Given the description of an element on the screen output the (x, y) to click on. 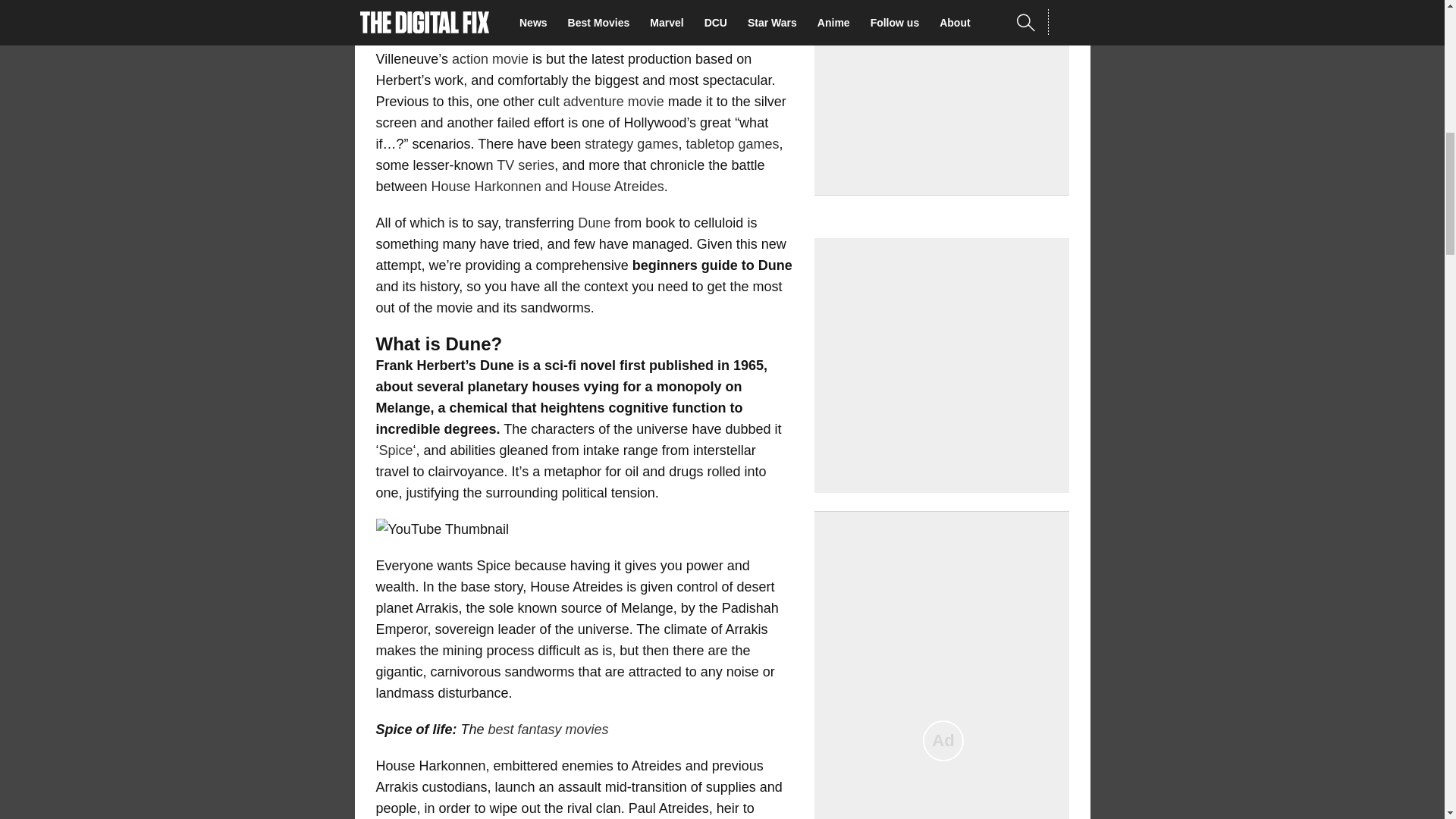
action movie (489, 58)
strategy games (631, 143)
tabletop games (731, 143)
House Harkonnen and House Atreides (546, 186)
adventure movie (613, 101)
TV series (525, 165)
